Given the description of an element on the screen output the (x, y) to click on. 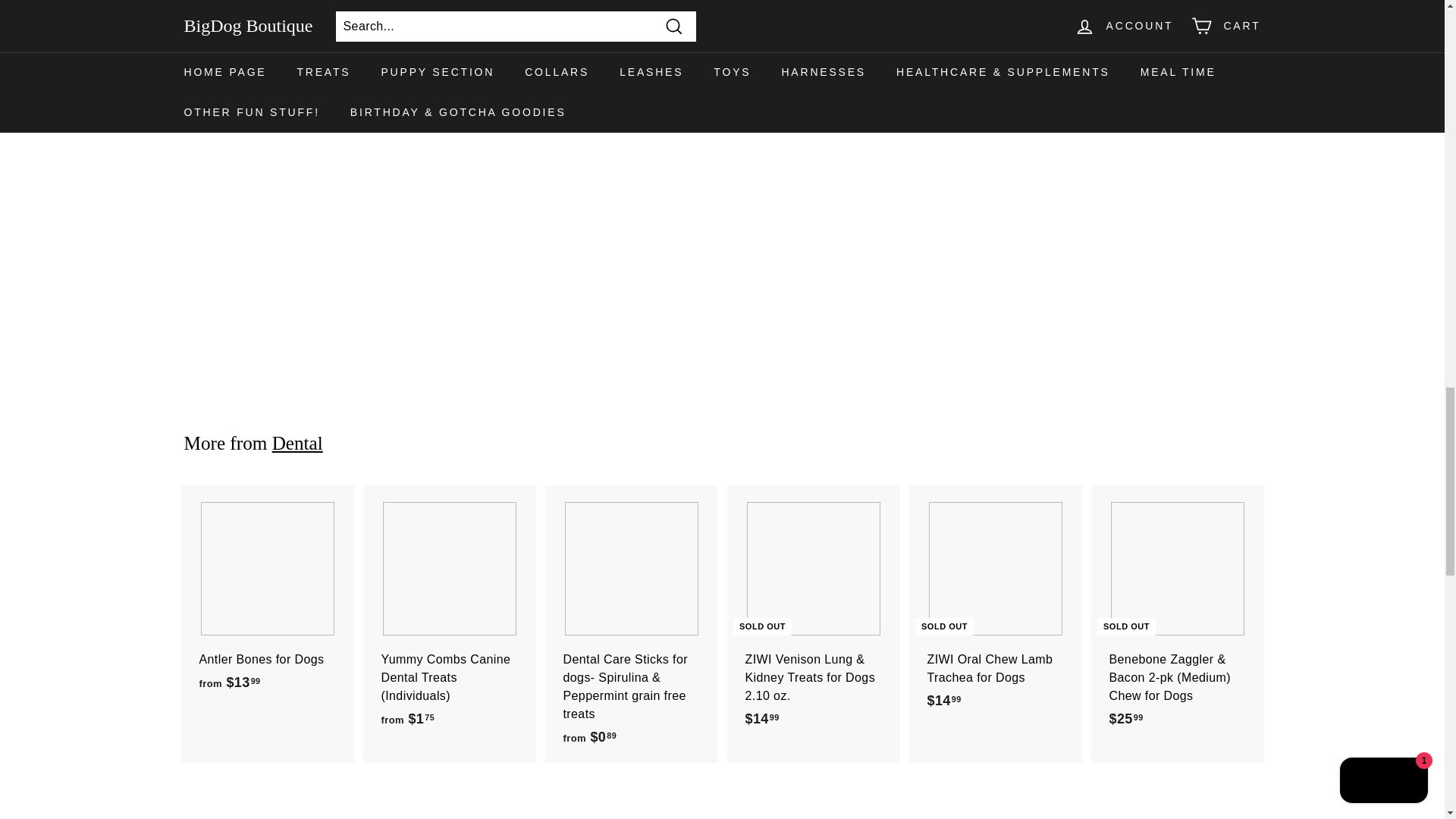
Primal (297, 70)
